Given the description of an element on the screen output the (x, y) to click on. 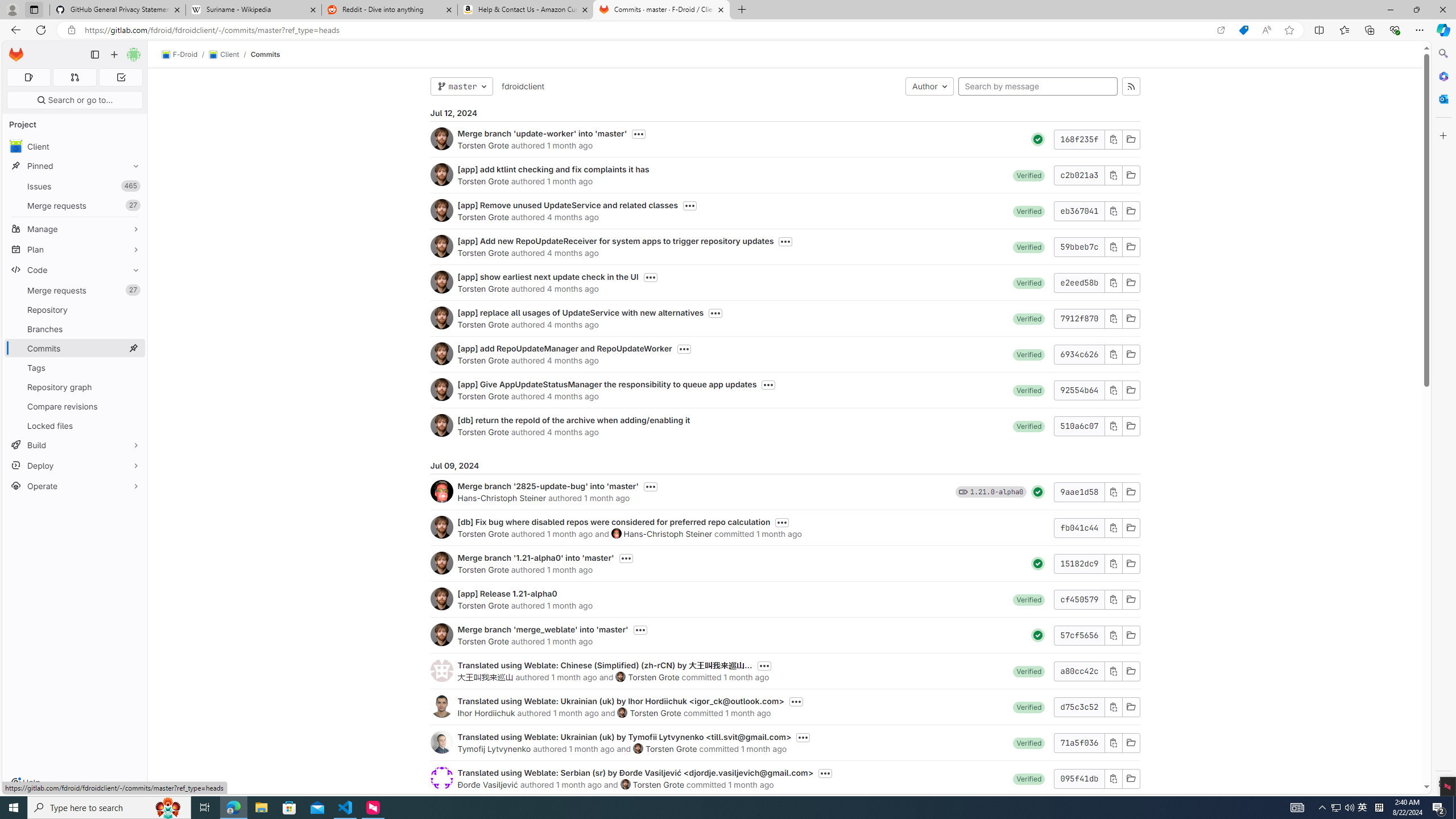
Merge branch 'update-worker' into 'master' (542, 133)
Skip to main content (13, 49)
Manage (74, 228)
master (461, 85)
F-Droid (179, 54)
Ihor Hordiichuk's avatar (440, 706)
Tymofij Lytvynenko (494, 748)
Branches (74, 328)
